Given the description of an element on the screen output the (x, y) to click on. 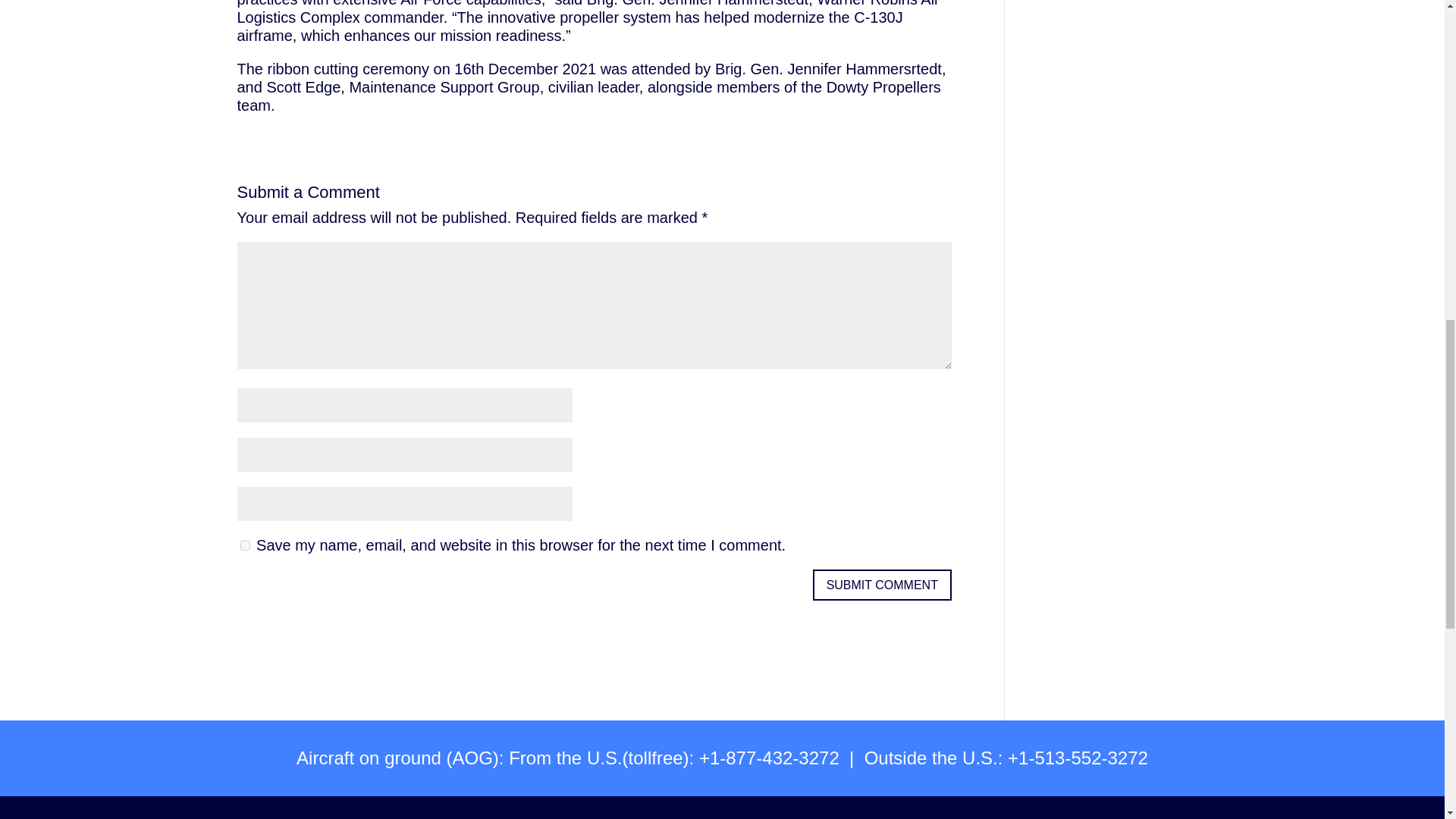
Submit Comment (882, 584)
yes (244, 545)
Submit Comment (882, 584)
